Given the description of an element on the screen output the (x, y) to click on. 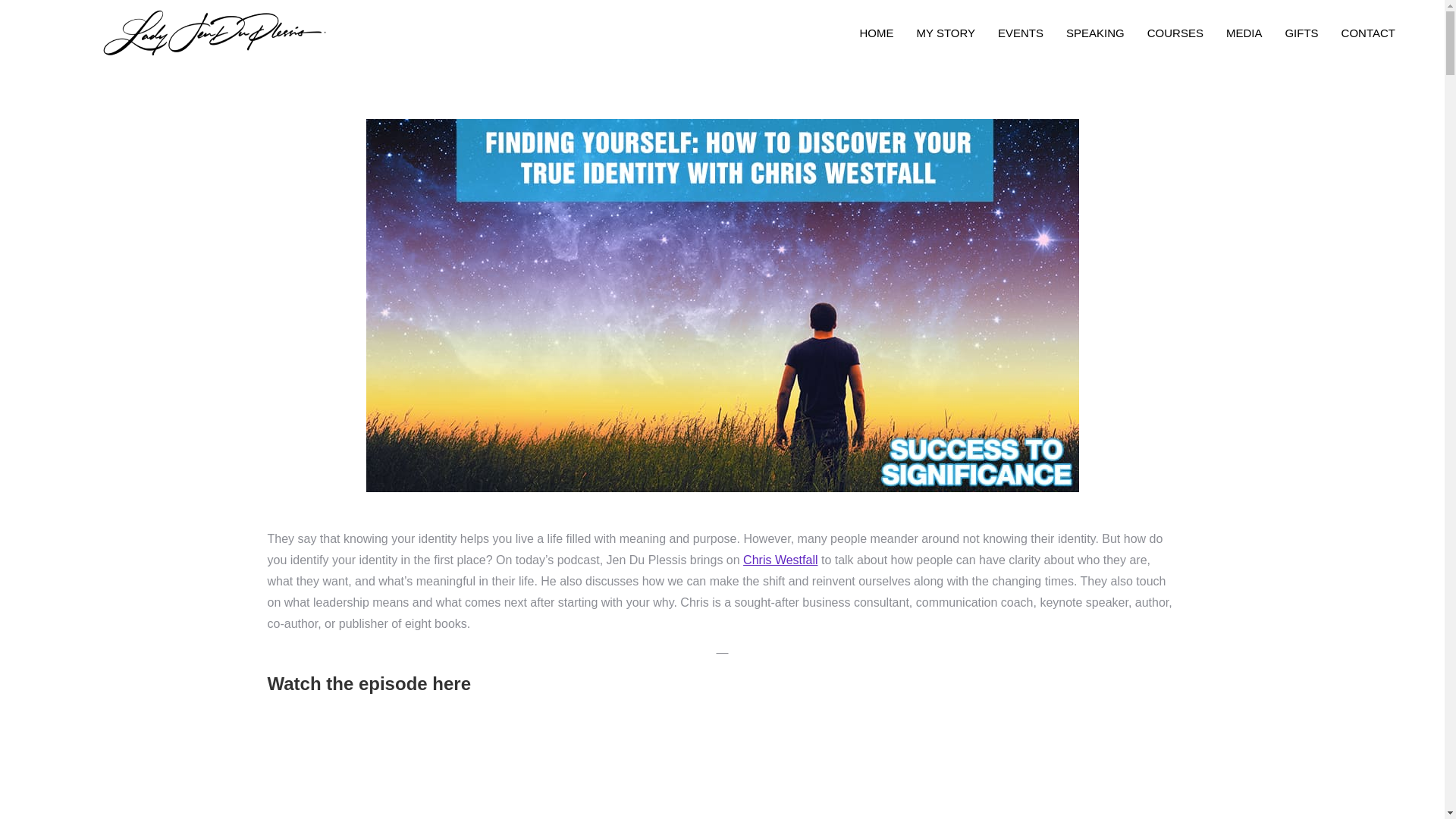
GIFTS (1301, 33)
CONTACT (1368, 33)
MEDIA (1244, 33)
EVENTS (1020, 33)
HOME (876, 33)
SPEAKING (1095, 33)
Chris Westfall (779, 559)
COURSES (1174, 33)
MY STORY (945, 33)
